Given the description of an element on the screen output the (x, y) to click on. 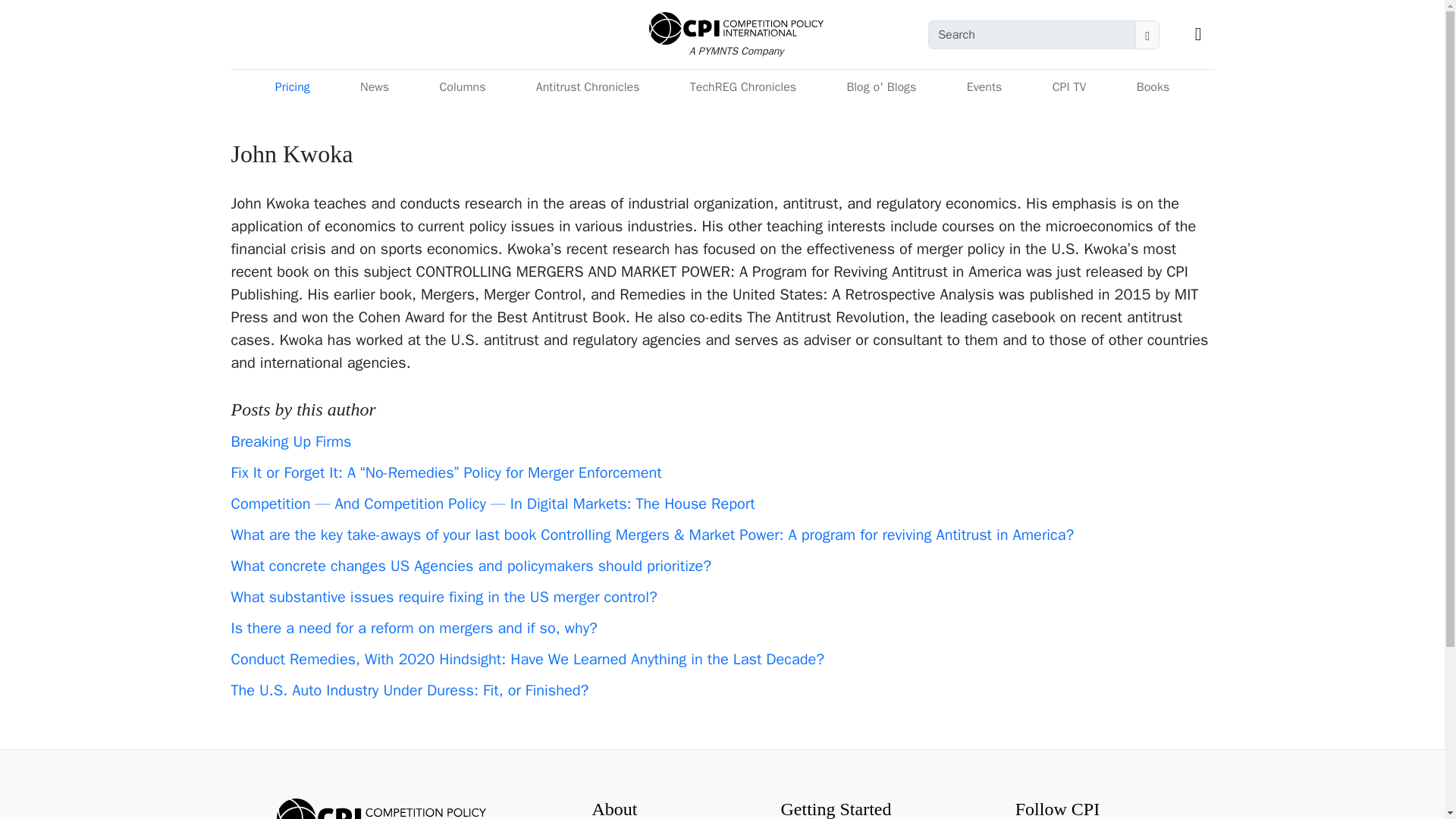
Antitrust Chronicles (587, 87)
TechREG Chronicles (743, 87)
Breaking Up Firms (290, 441)
CPI TV (1069, 87)
News (373, 87)
Books (1152, 87)
Columns (462, 87)
